Given the description of an element on the screen output the (x, y) to click on. 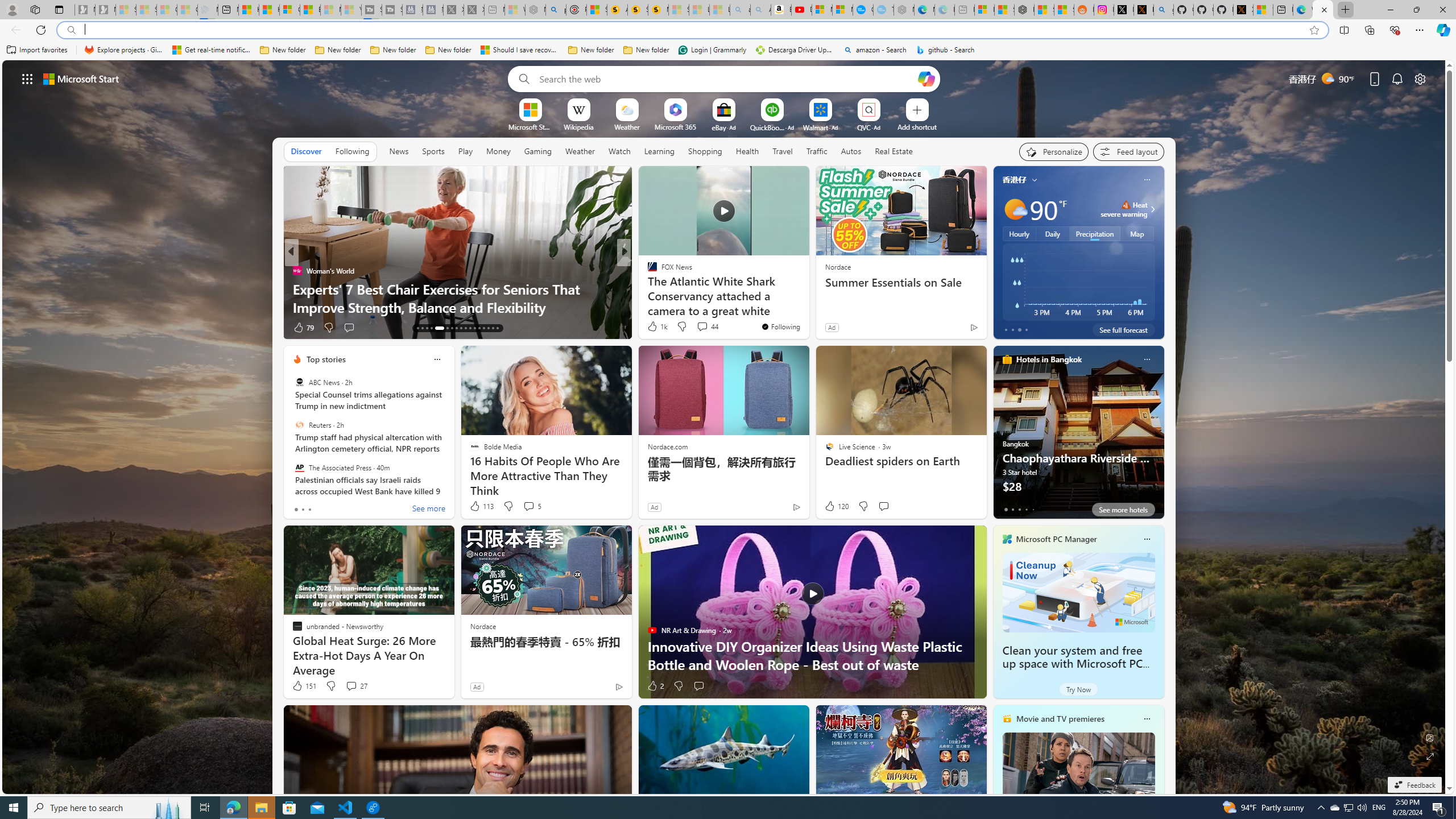
Wikipedia (578, 126)
Weather (579, 151)
News (398, 151)
Feedback (1414, 784)
AutomationID: tab-28 (492, 328)
Summer Essentials on Sale (900, 282)
AutomationID: tab-26 (483, 328)
Microsoft Start Sports (529, 126)
Add a site (916, 126)
Browser essentials (1394, 29)
Ad Choice (619, 686)
Personalize your feed" (1054, 151)
